Given the description of an element on the screen output the (x, y) to click on. 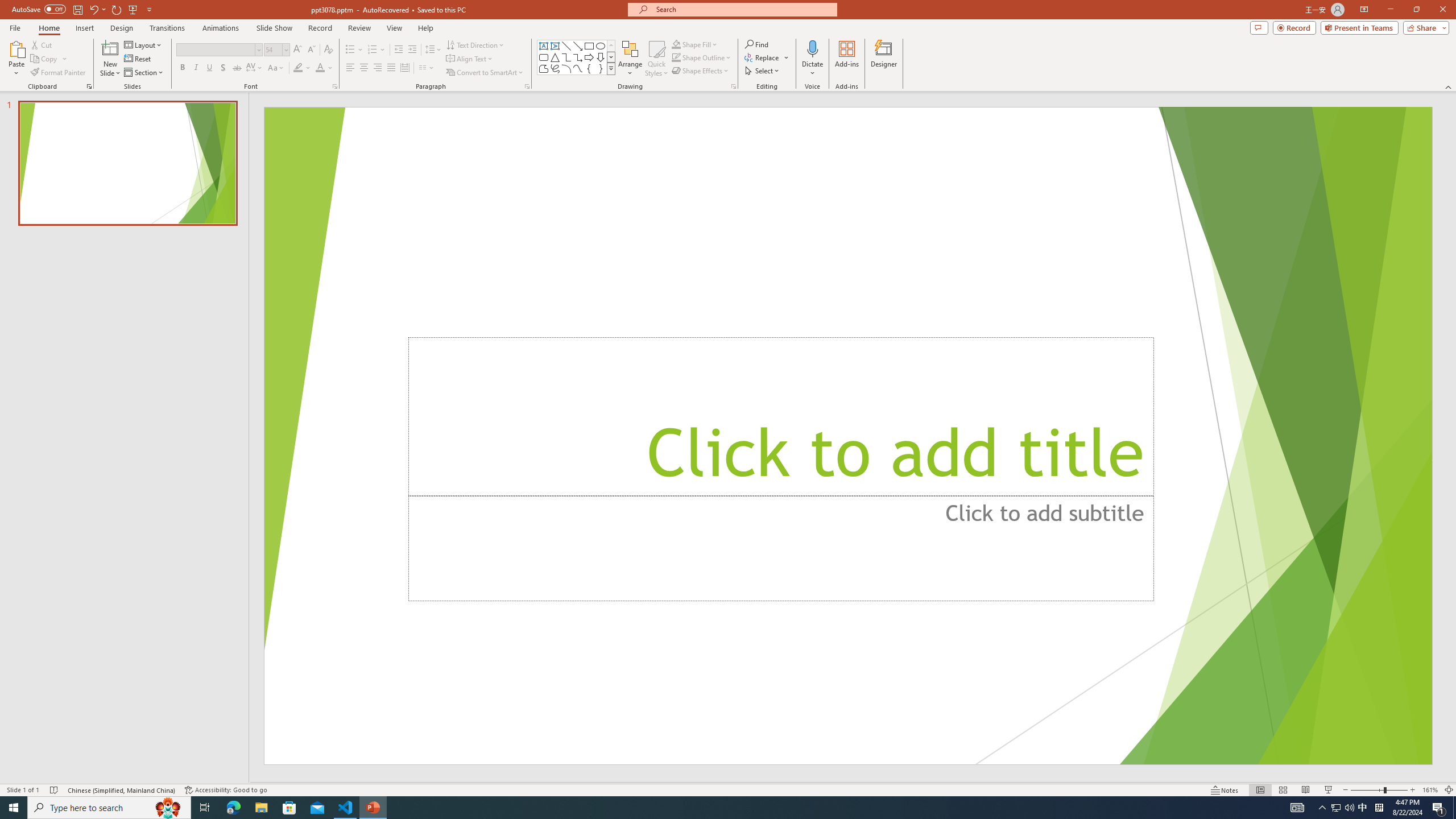
Zoom 161% (1430, 790)
